Given the description of an element on the screen output the (x, y) to click on. 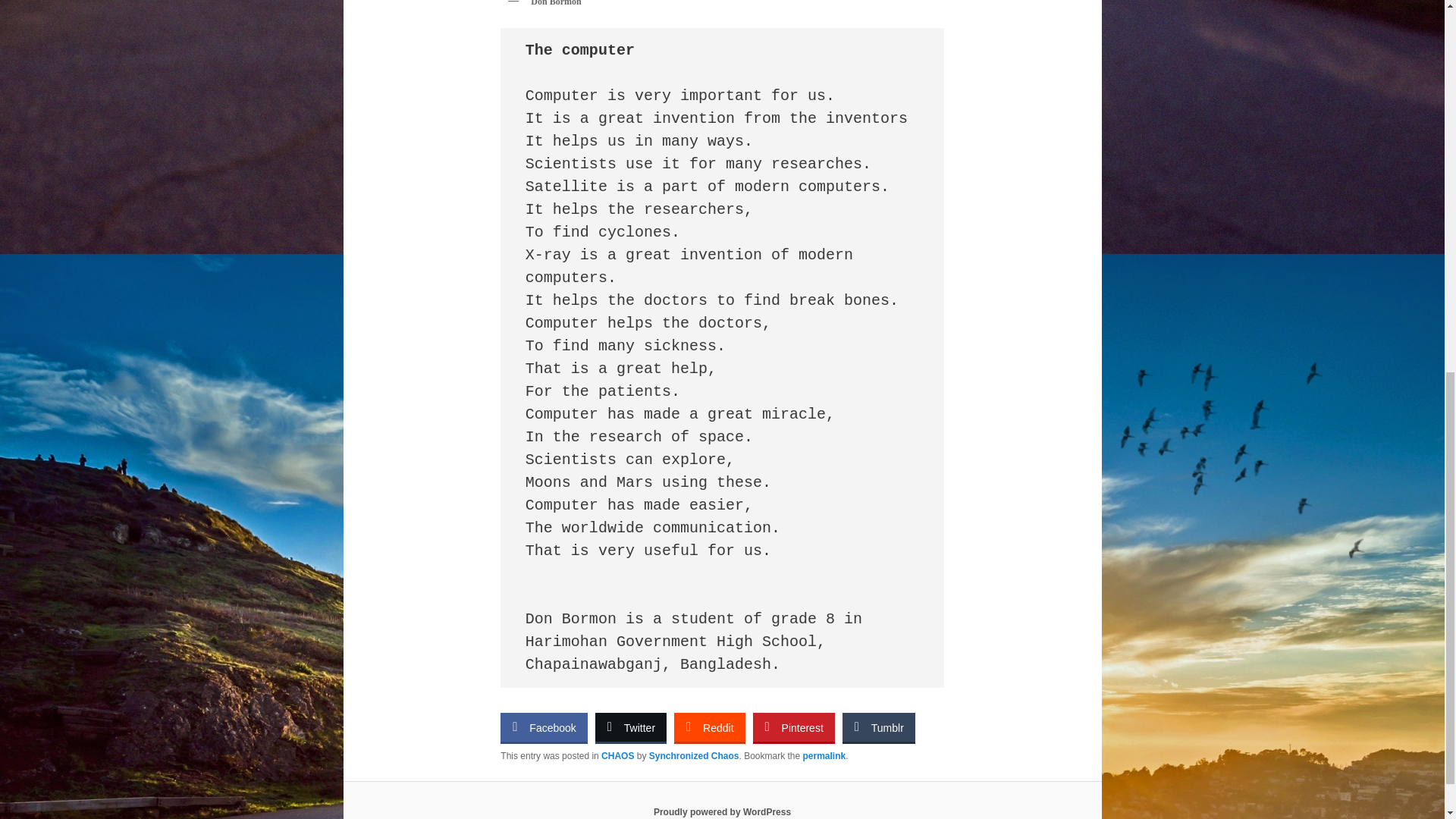
permalink (824, 756)
Reddit (709, 727)
Facebook (543, 727)
Permalink to Poetry from Don Bormon (824, 756)
Twitter (630, 727)
Synchronized Chaos (694, 756)
Tumblr (879, 727)
Semantic Personal Publishing Platform (721, 811)
CHAOS (617, 756)
Pinterest (793, 727)
Proudly powered by WordPress (721, 811)
